Given the description of an element on the screen output the (x, y) to click on. 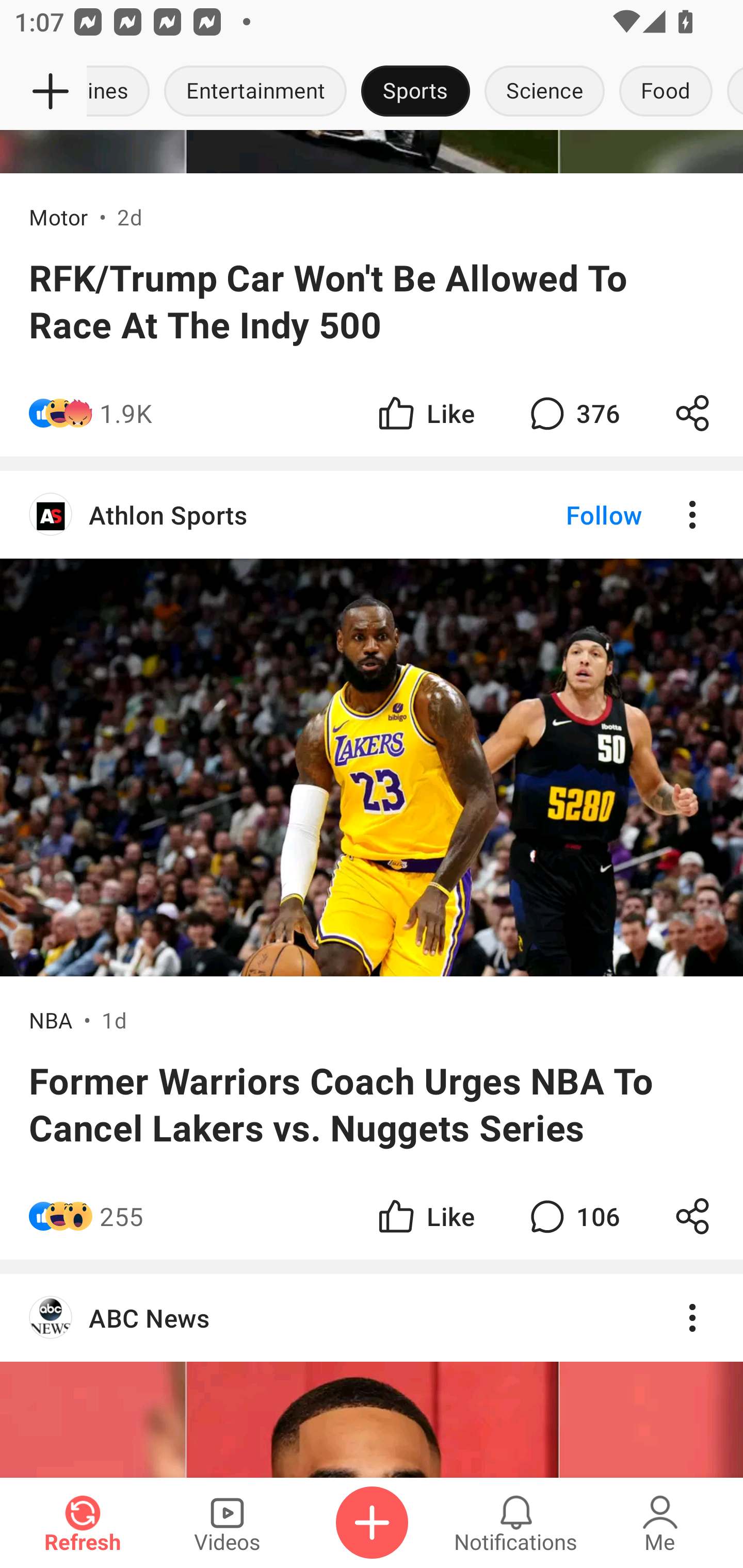
Headlines (121, 91)
Entertainment (254, 91)
Sports (415, 91)
Science (544, 91)
Food (665, 91)
1.9K (125, 413)
Like (425, 413)
376 (572, 413)
Athlon Sports Follow (371, 514)
Follow (569, 514)
255 (121, 1215)
Like (425, 1215)
106 (572, 1215)
ABC News (371, 1317)
Videos (227, 1522)
Notifications (516, 1522)
Me (659, 1522)
